Given the description of an element on the screen output the (x, y) to click on. 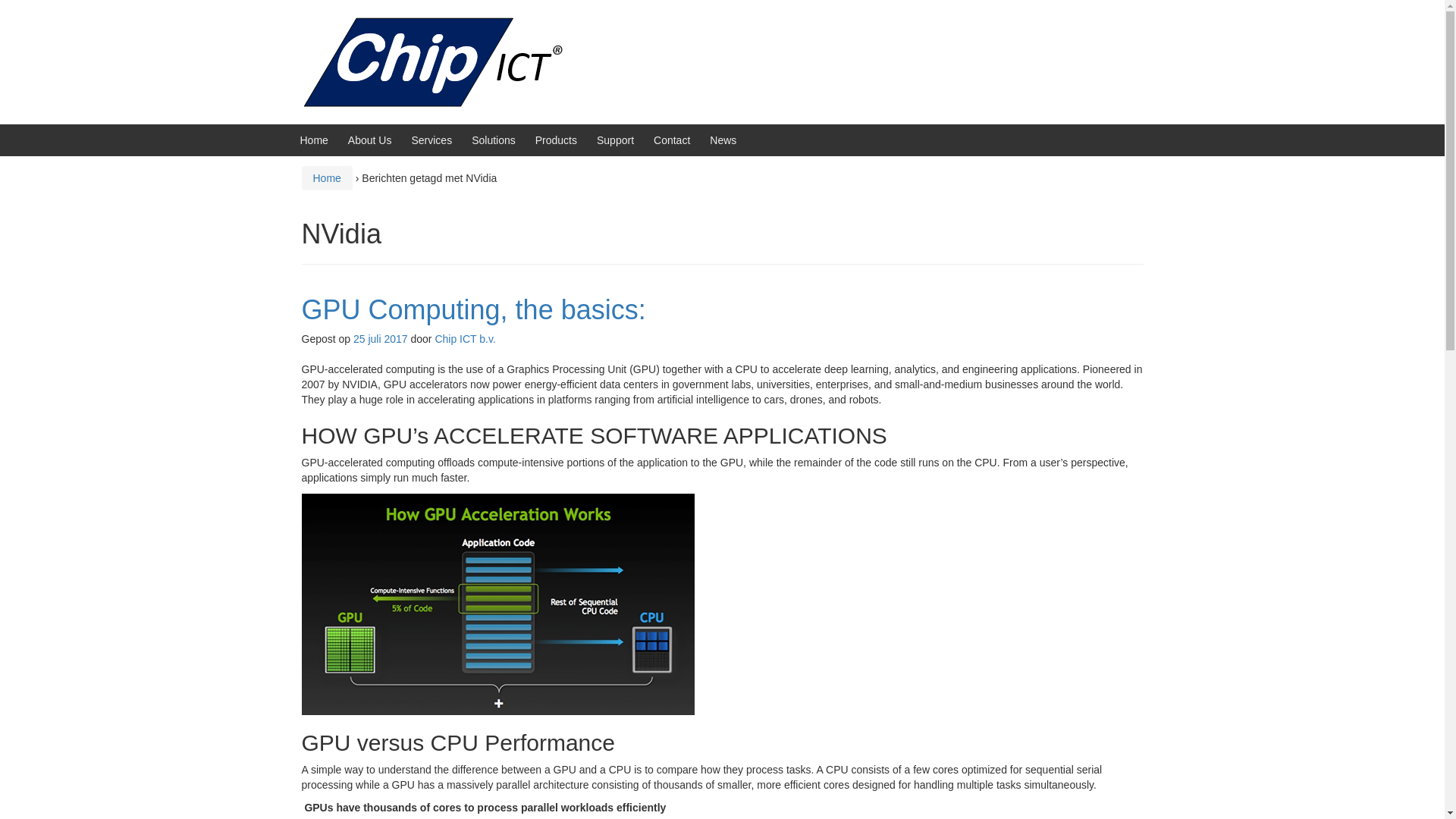
Services (430, 140)
Bekijk alle berichten van Chip ICT b.v. (464, 338)
Chip ICT (439, 61)
17:38 (380, 338)
Support (614, 140)
Contact (671, 140)
How GPU Acceleration Works (497, 603)
Products (555, 140)
About Us (369, 140)
